Given the description of an element on the screen output the (x, y) to click on. 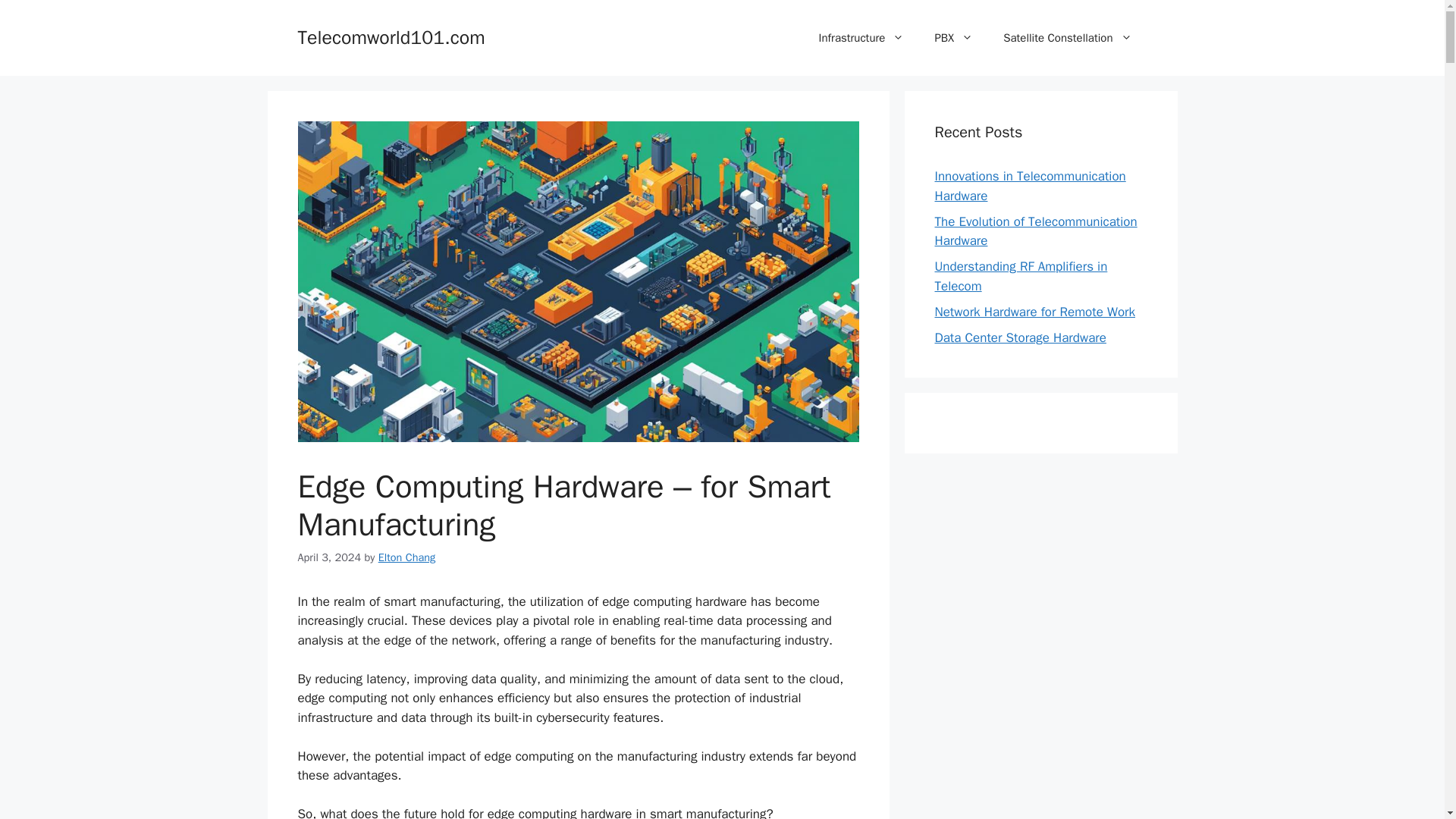
View all posts by Elton Chang (406, 557)
Elton Chang (406, 557)
Telecomworld101.com (390, 37)
PBX (953, 37)
Infrastructure (861, 37)
Satellite Constellation (1067, 37)
